Given the description of an element on the screen output the (x, y) to click on. 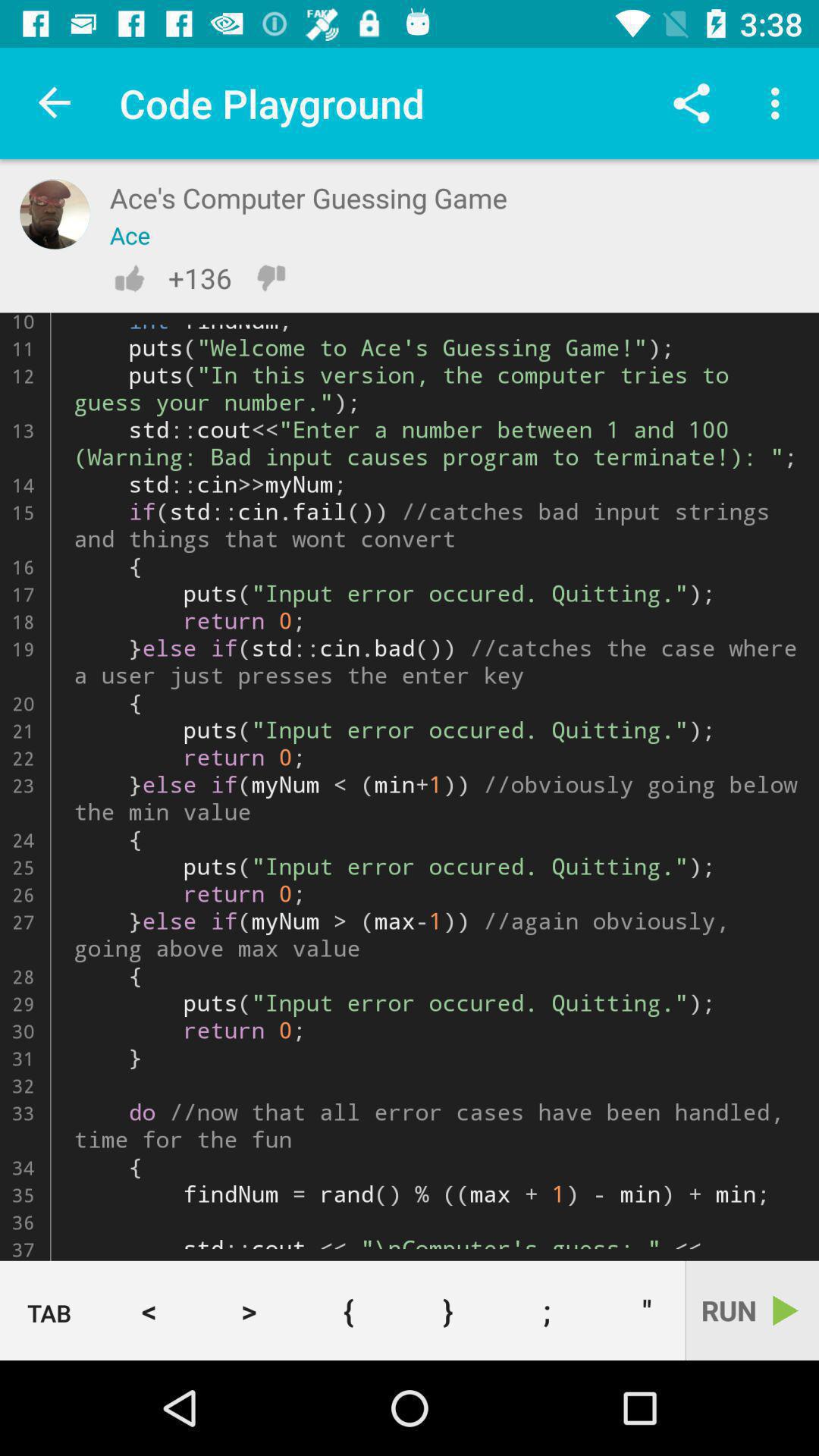
like the code (129, 277)
